Given the description of an element on the screen output the (x, y) to click on. 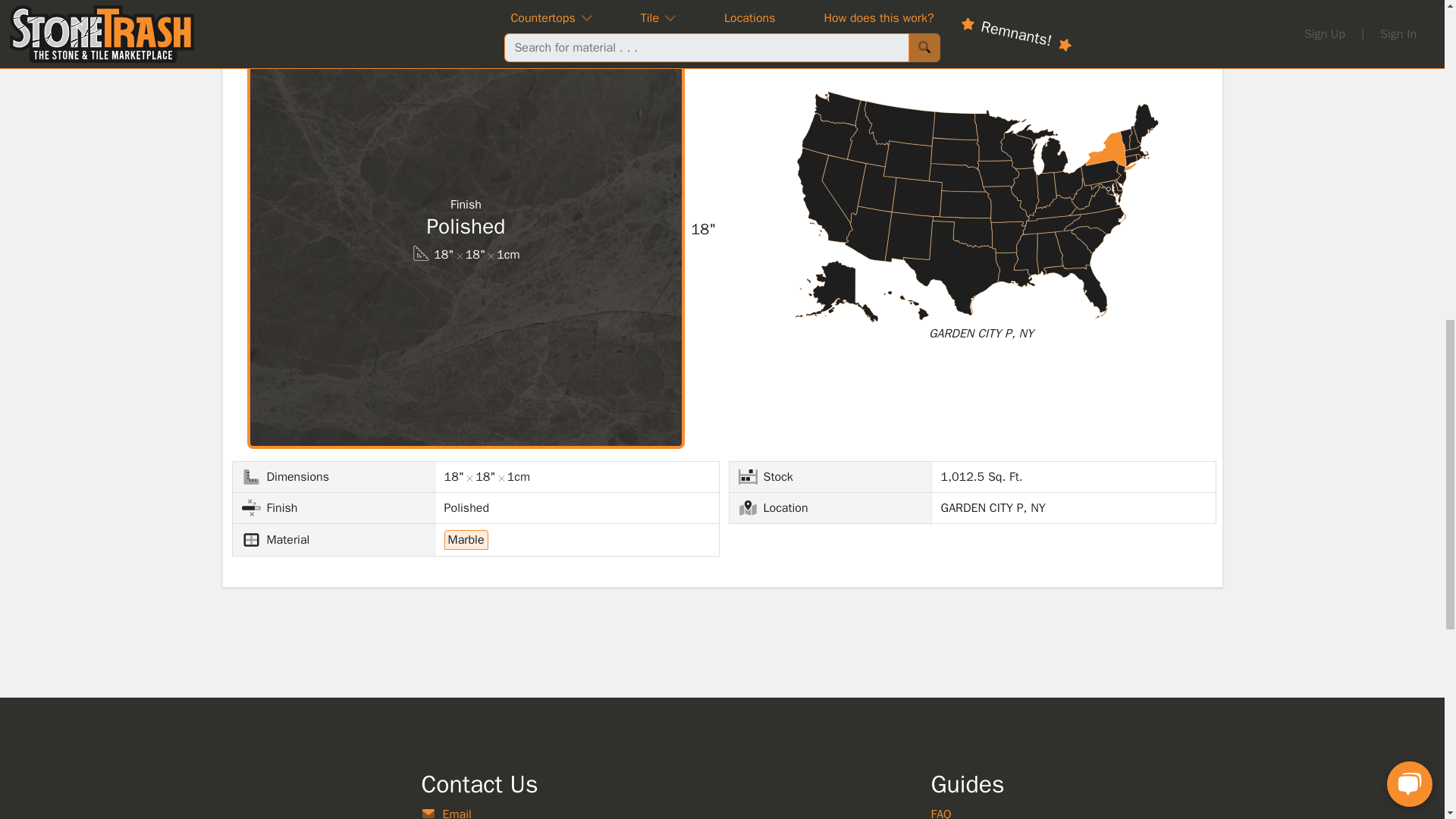
1.27 cm (517, 476)
1012.5 (981, 476)
18 inches x 18 inches x 1.27 cm (465, 254)
1.27 cm (507, 254)
18 inches x 18 inches x 1.27 cm (486, 476)
